Given the description of an element on the screen output the (x, y) to click on. 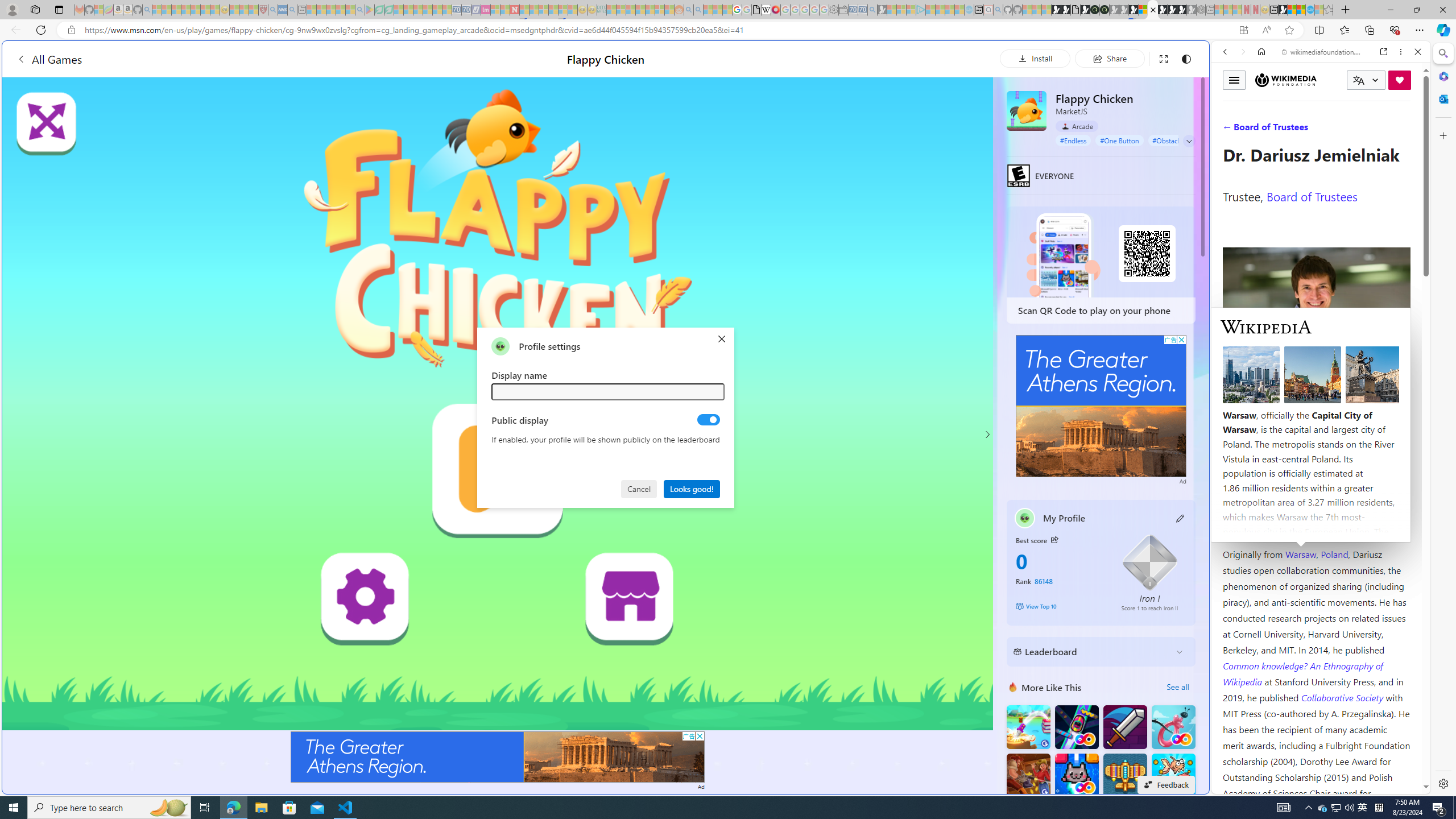
#Endless (1073, 140)
Favorites - Sleeping (1328, 9)
See all (1177, 687)
Common knowledge? An Ethnography of Wikipedia (1302, 672)
